Given the description of an element on the screen output the (x, y) to click on. 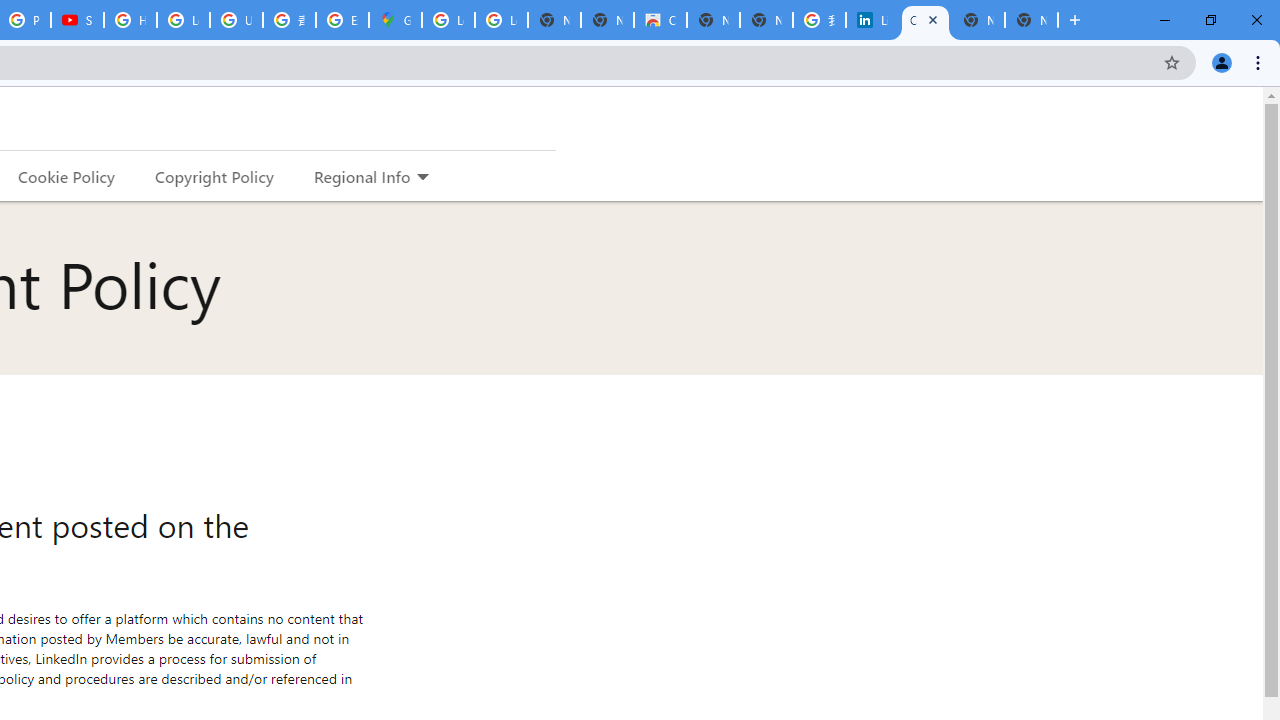
New Tab (1031, 20)
How Chrome protects your passwords - Google Chrome Help (130, 20)
Regional Info (361, 176)
Copyright Policy (213, 176)
